Given the description of an element on the screen output the (x, y) to click on. 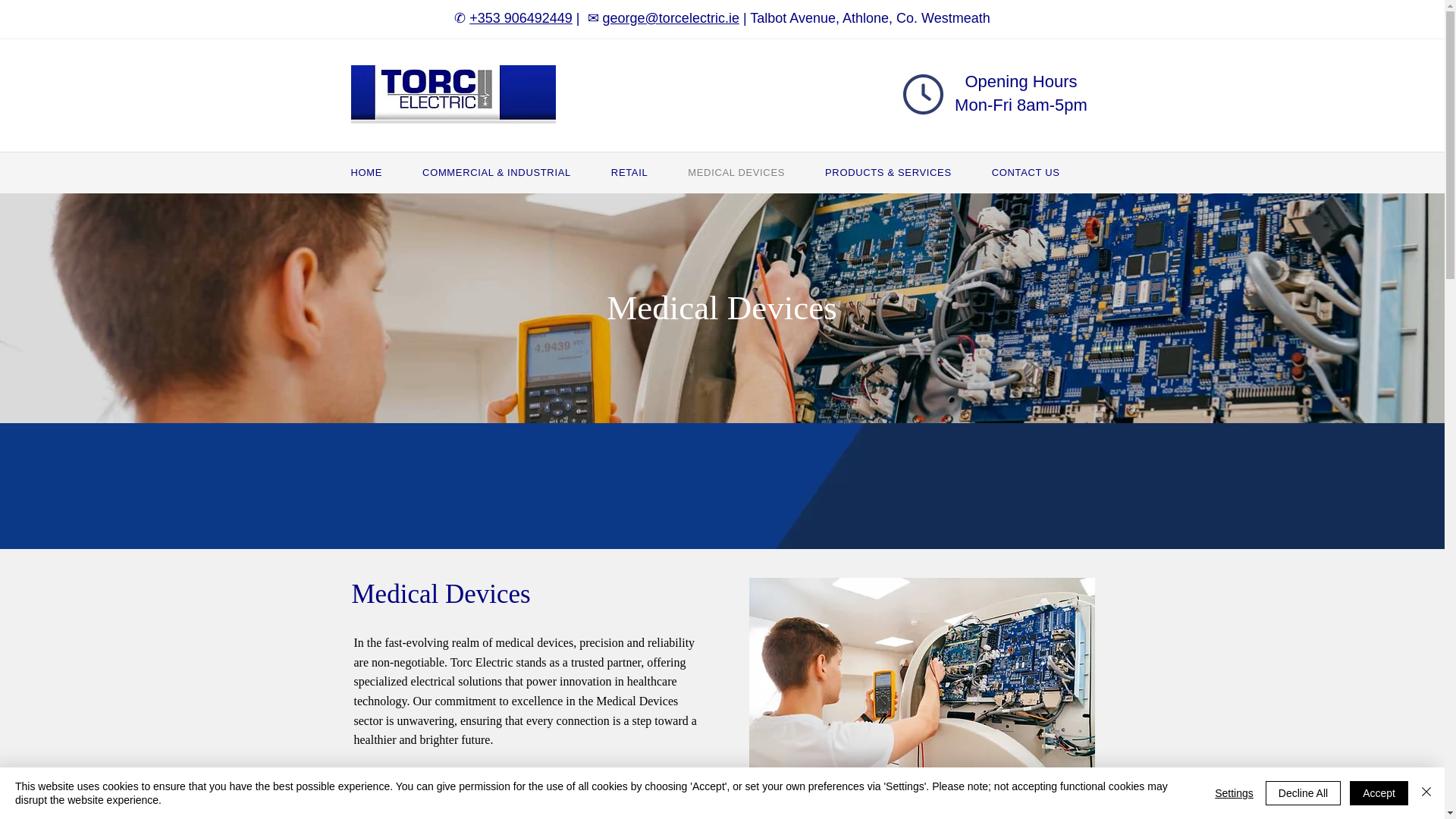
HOME (383, 171)
Decline All (1302, 793)
MEDICAL DEVICES (752, 171)
Accept (1378, 793)
CONTACT US (1042, 171)
RETAIL (646, 171)
clock (922, 94)
